Given the description of an element on the screen output the (x, y) to click on. 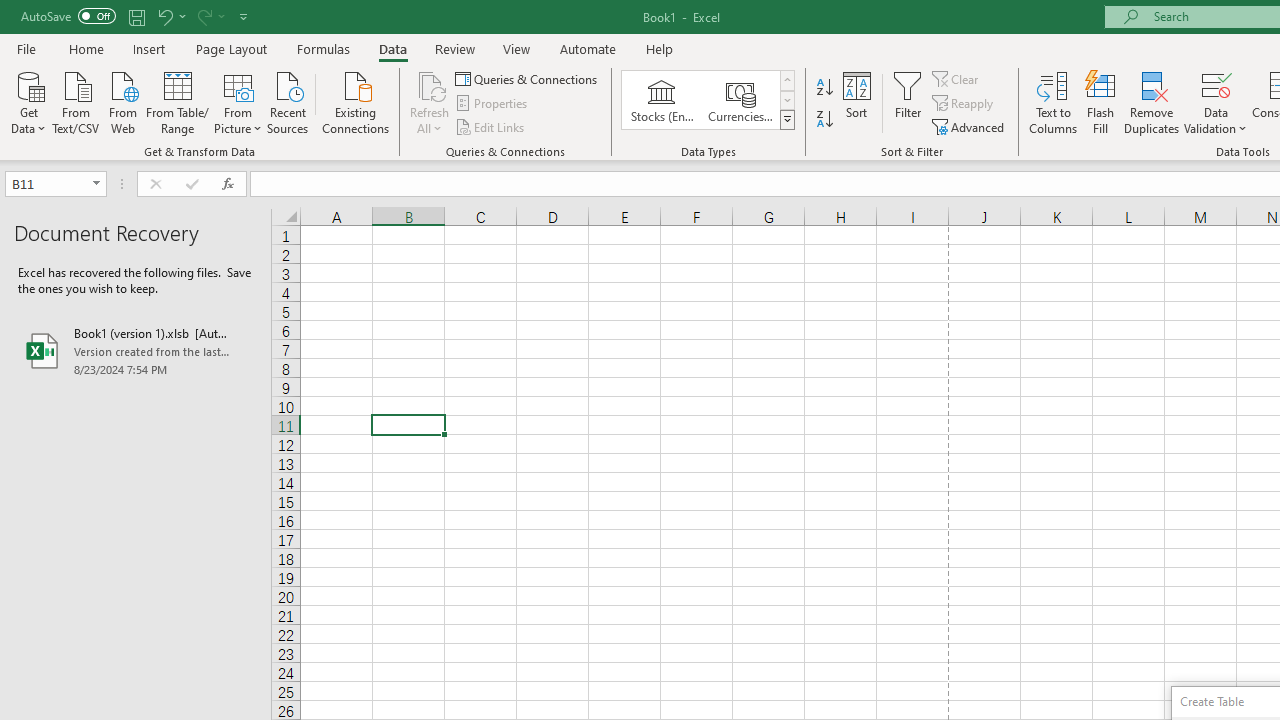
Data Validation... (1215, 84)
Currencies (English) (740, 100)
Advanced... (970, 126)
From Web (122, 101)
Sort Z to A (824, 119)
Get Data (28, 101)
From Picture (238, 101)
